Given the description of an element on the screen output the (x, y) to click on. 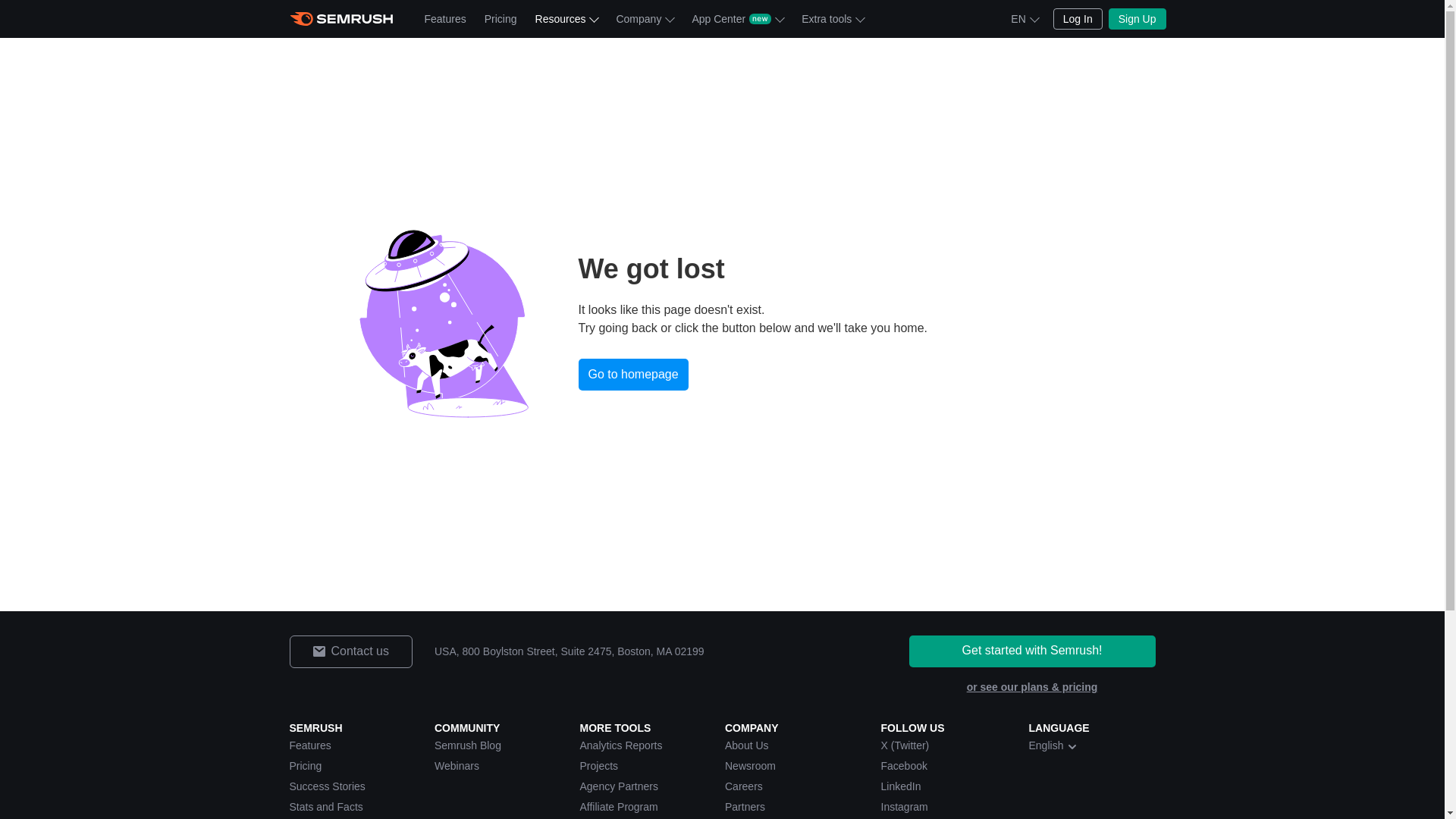
Resources (566, 18)
Company (644, 18)
Pricing (500, 18)
App Center (737, 18)
Extra tools (832, 18)
Features (445, 18)
